Given the description of an element on the screen output the (x, y) to click on. 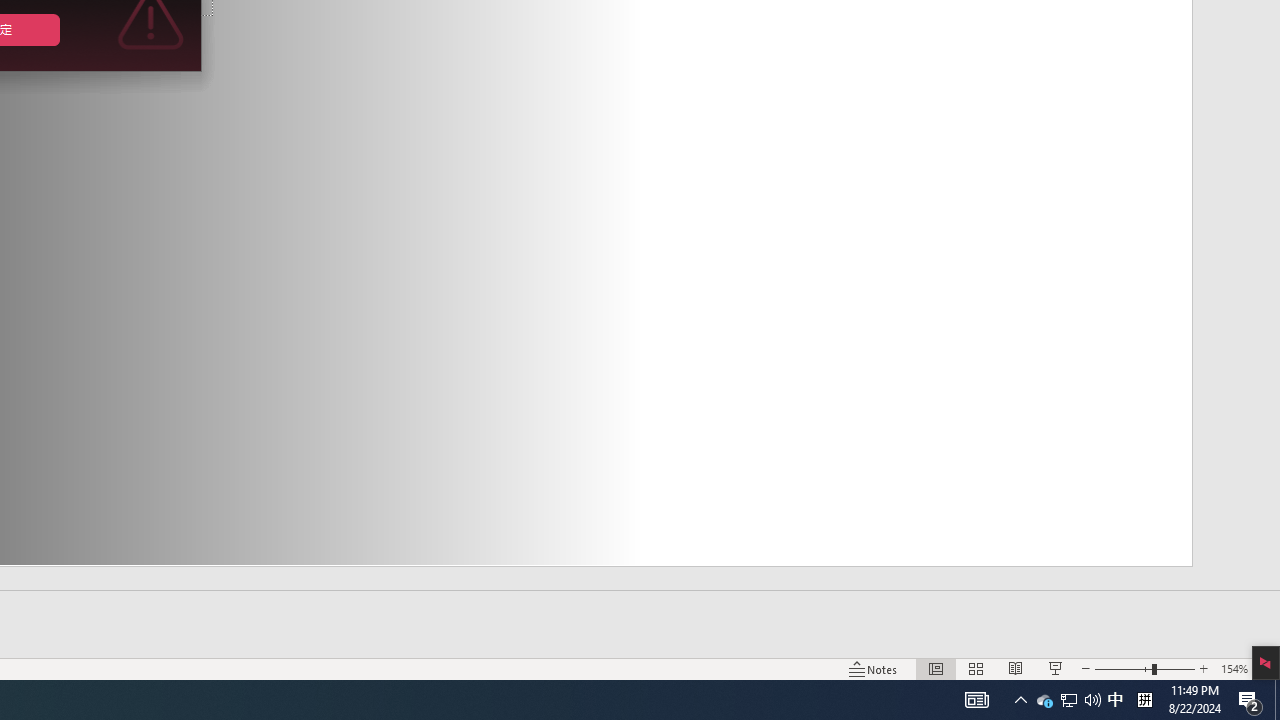
Zoom 154% (1234, 668)
